Given the description of an element on the screen output the (x, y) to click on. 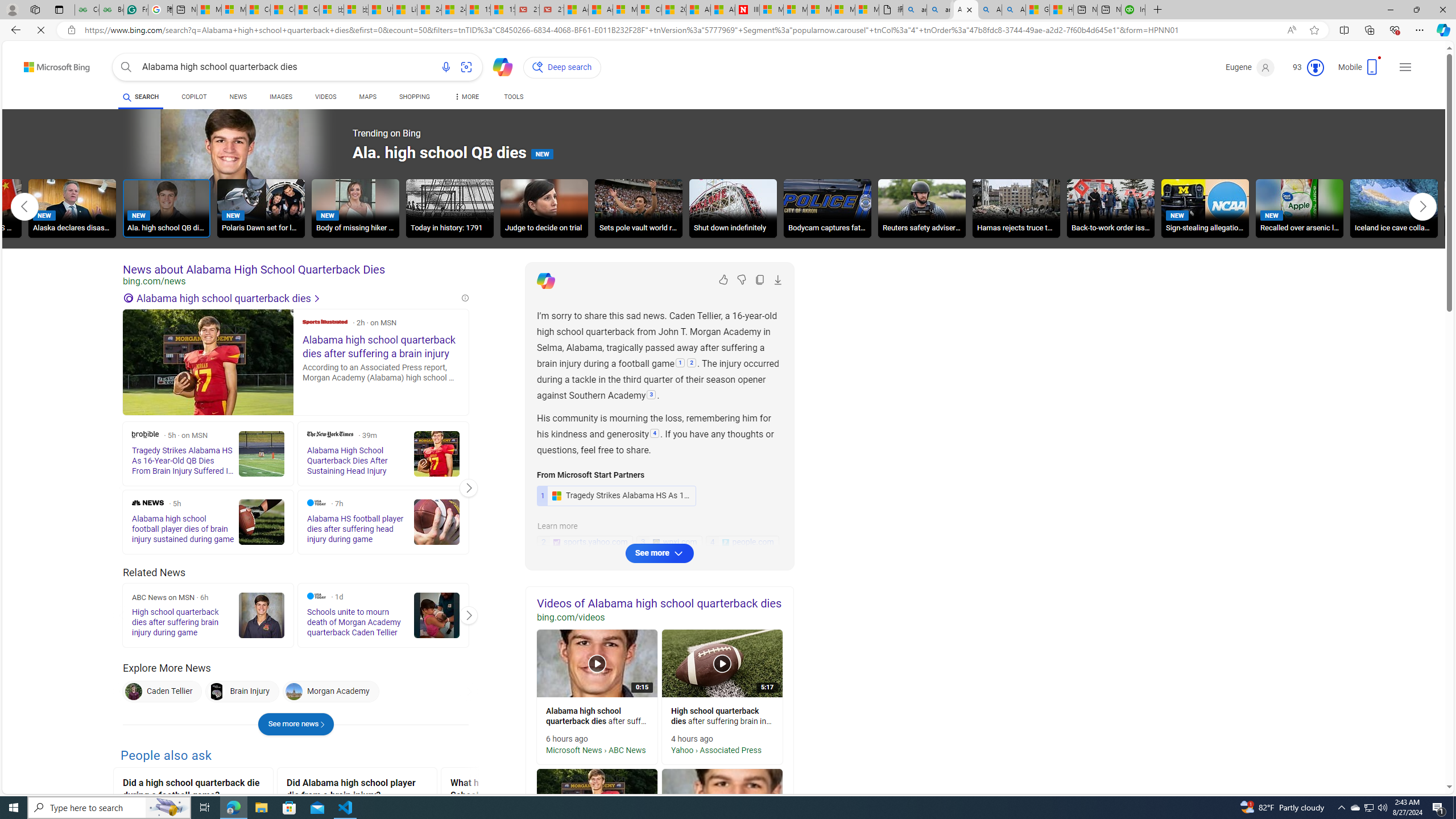
See more news (295, 724)
Copy (759, 280)
Cloud Computing Services | Microsoft Azure (648, 9)
Brain Injury (216, 691)
Caden Tellier (162, 691)
Export (777, 280)
